Given the description of an element on the screen output the (x, y) to click on. 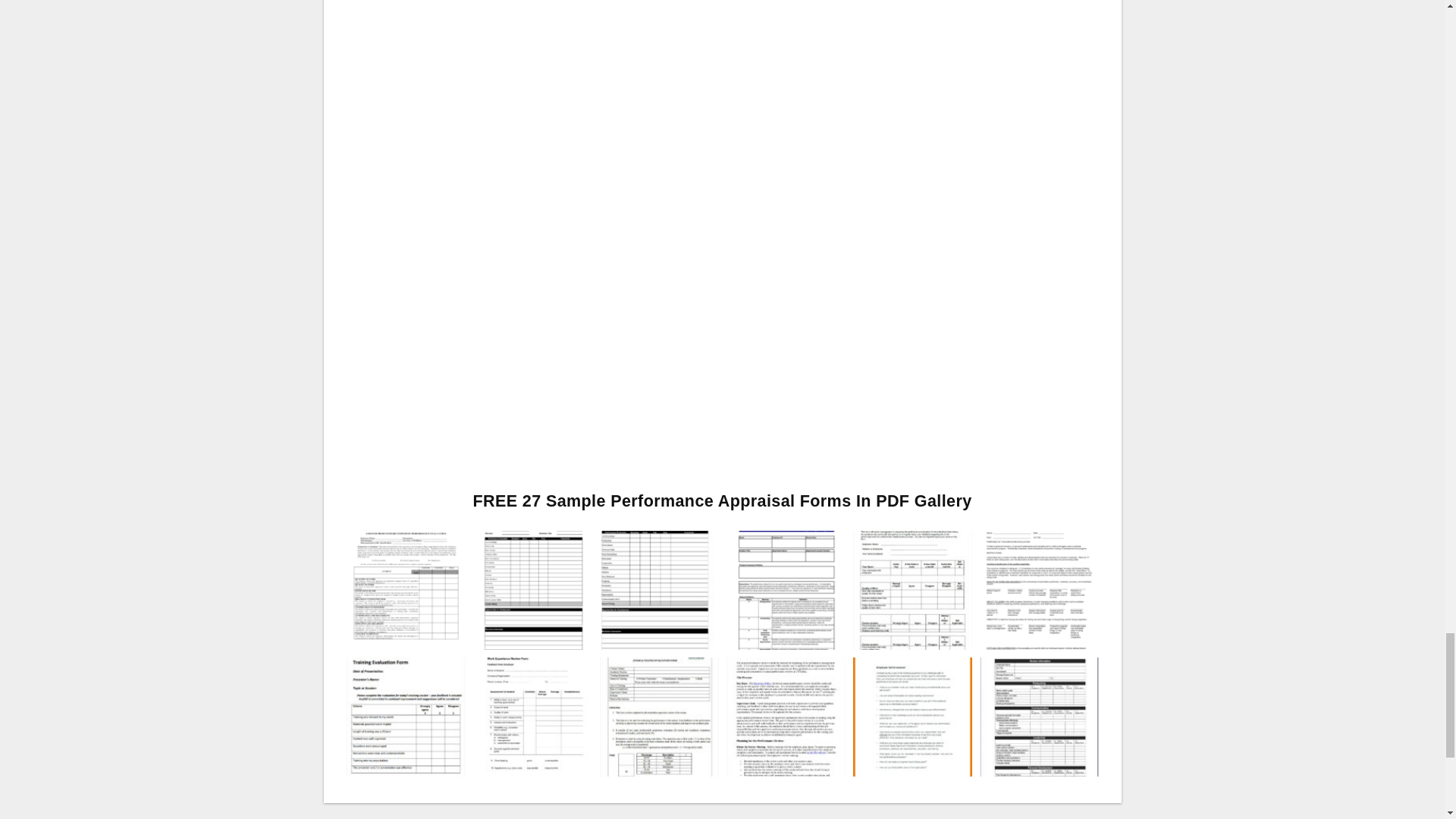
Probationary Employee Performance Evaluation Form Edit (405, 589)
